Given the description of an element on the screen output the (x, y) to click on. 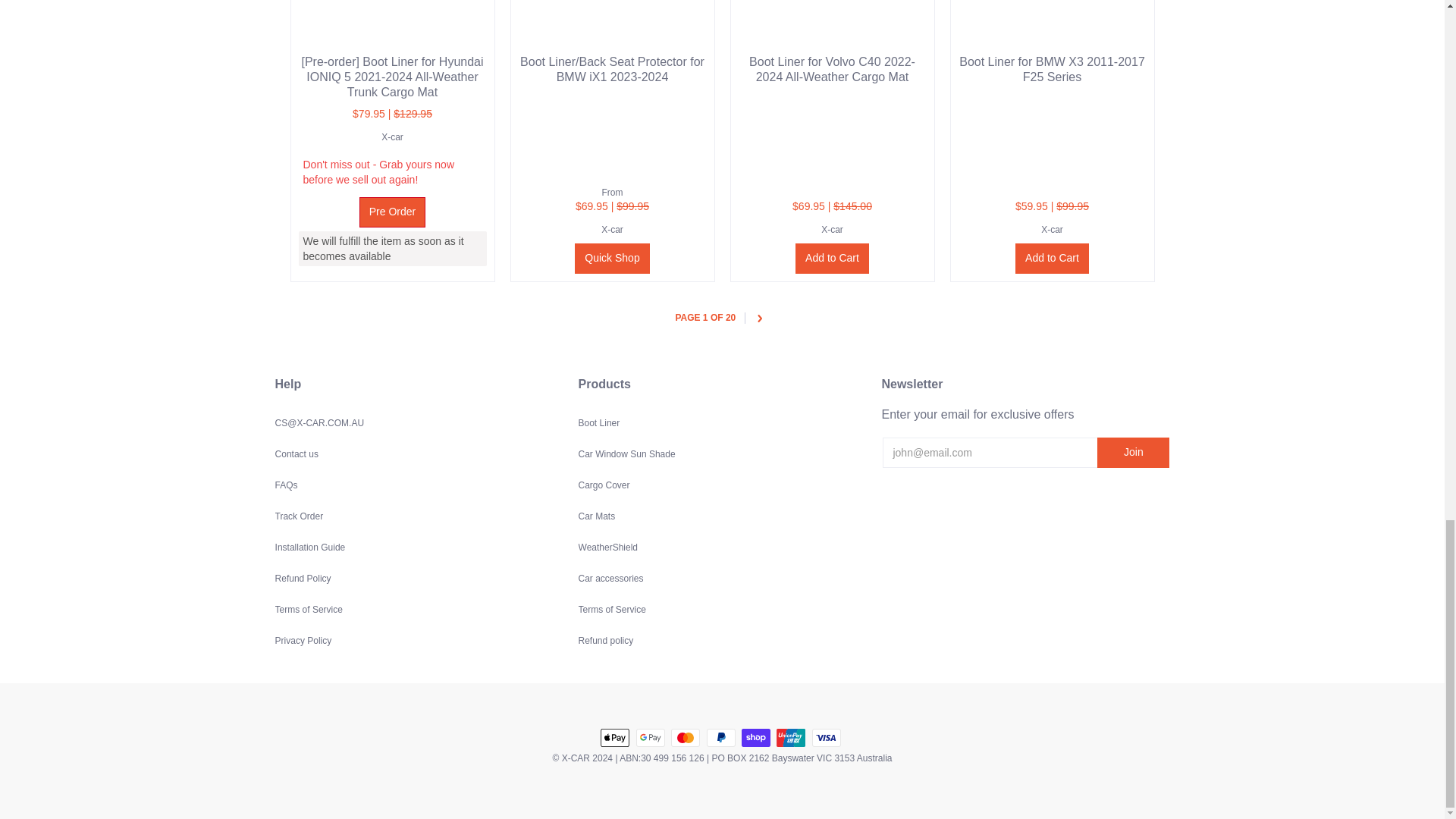
Shop Pay (755, 737)
Google Pay (650, 737)
Visa (826, 737)
Join (1133, 452)
Pre Order (392, 212)
Apple Pay (613, 737)
Union Pay (790, 737)
PayPal (720, 737)
Add to Cart (1051, 258)
Mastercard (685, 737)
Add to Cart (831, 258)
